Given the description of an element on the screen output the (x, y) to click on. 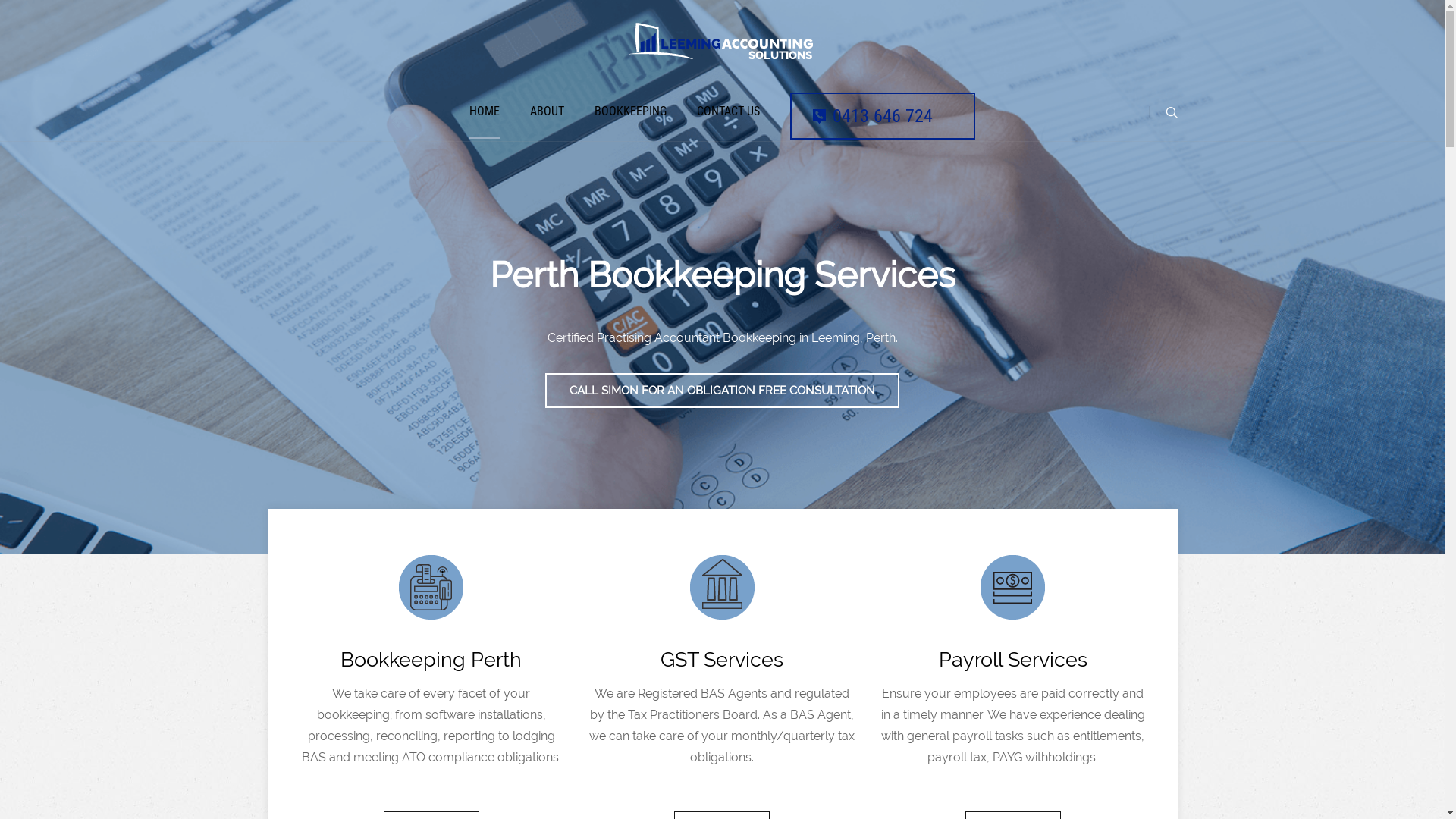
BOOKKEEPING Element type: text (630, 110)
CALL SIMON FOR AN OBLIGATION FREE CONSULTATION Element type: text (722, 390)
CONTACT US Element type: text (727, 110)
bookeeping bullet.fw Element type: hover (1012, 587)
ABOUT Element type: text (547, 110)
0413 646 724 Element type: text (882, 115)
bookeeping bullet 1.fw Element type: hover (722, 587)
HOME Element type: text (484, 110)
bookeeping bullet 2.fw Element type: hover (430, 587)
